Given the description of an element on the screen output the (x, y) to click on. 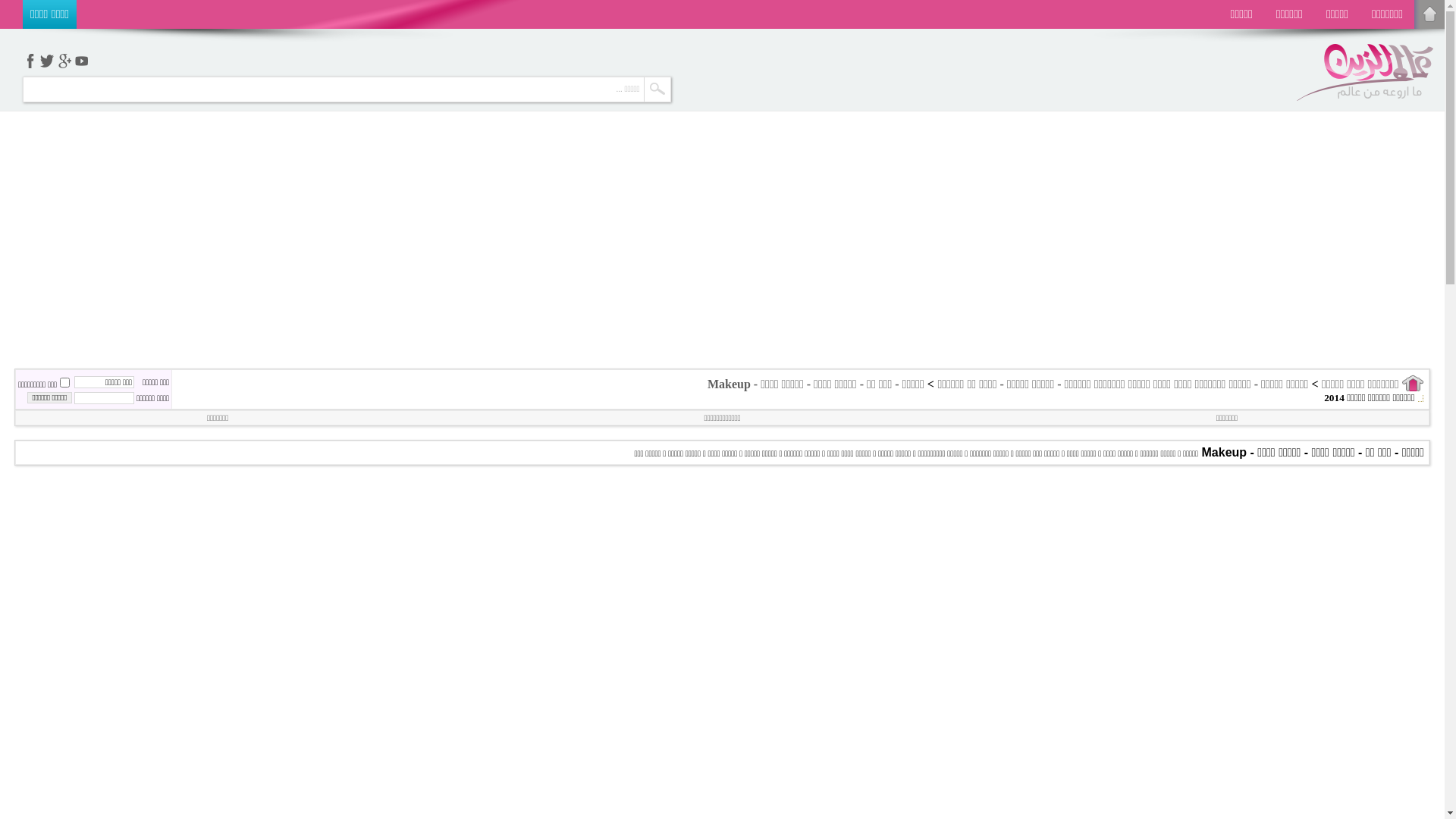
Advertisement Element type: hover (892, 259)
facebook Element type: hover (29, 61)
Advertisement Element type: hover (722, 131)
google+ Element type: hover (63, 61)
youtube Element type: hover (79, 61)
twetter Element type: hover (46, 61)
Advertisement Element type: hover (551, 253)
